Given the description of an element on the screen output the (x, y) to click on. 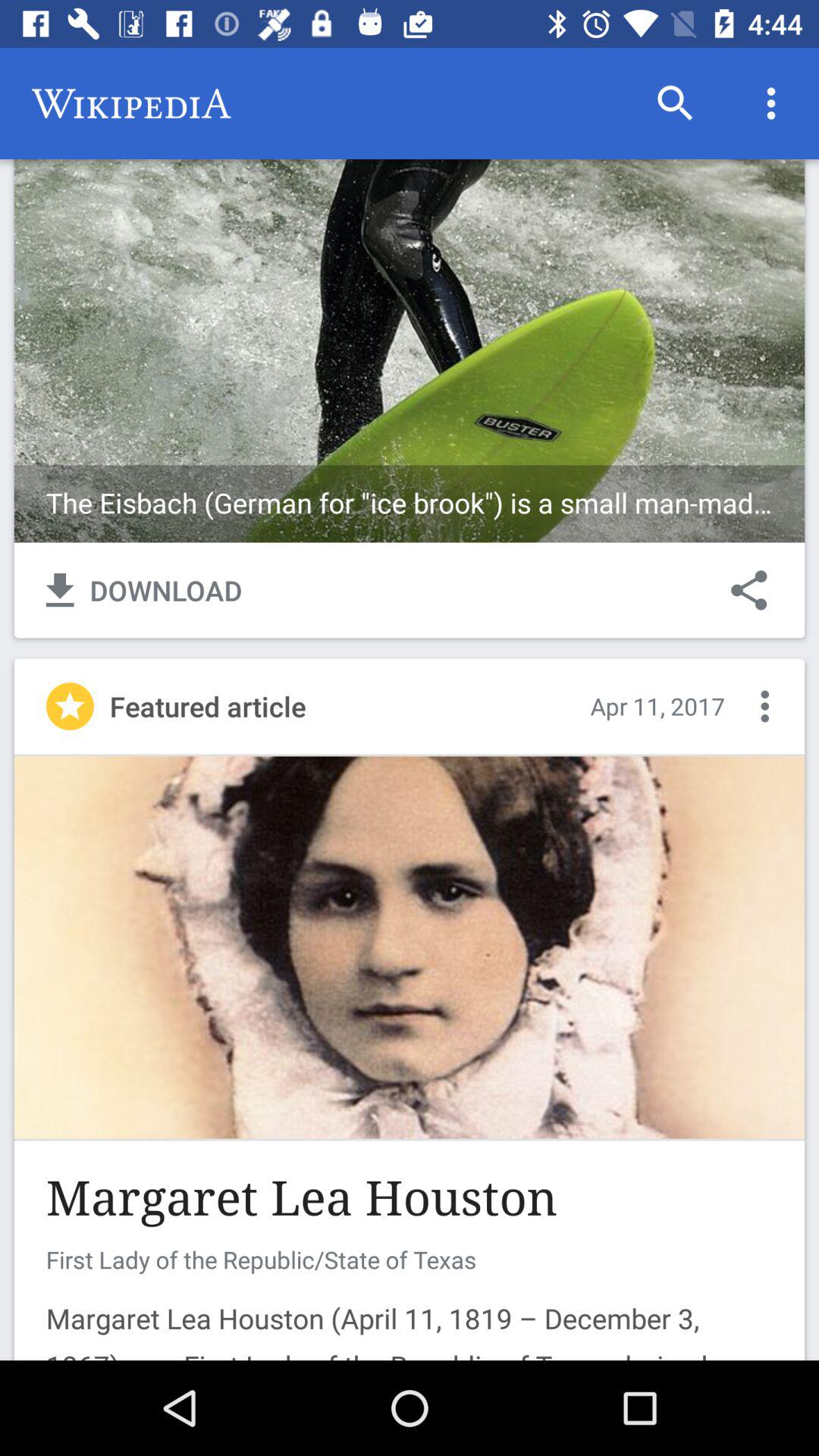
select  search  option on page (675, 103)
